Given the description of an element on the screen output the (x, y) to click on. 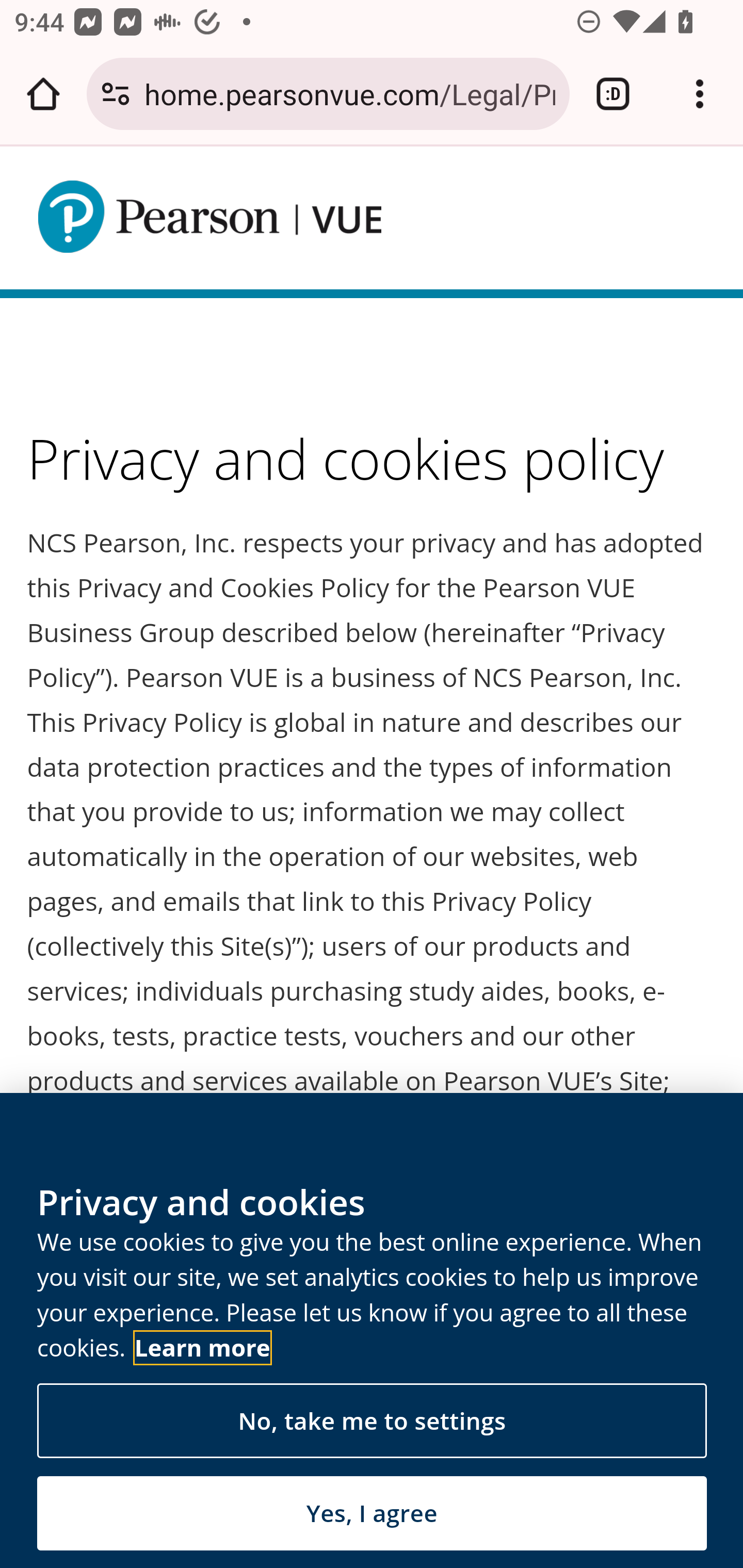
Open the home page (43, 93)
Connection is secure (115, 93)
Switch or close tabs (612, 93)
Customize and control Google Chrome (699, 93)
Pearson VUE (209, 217)
No, take me to settings (372, 1420)
Yes, I agree (372, 1512)
